Given the description of an element on the screen output the (x, y) to click on. 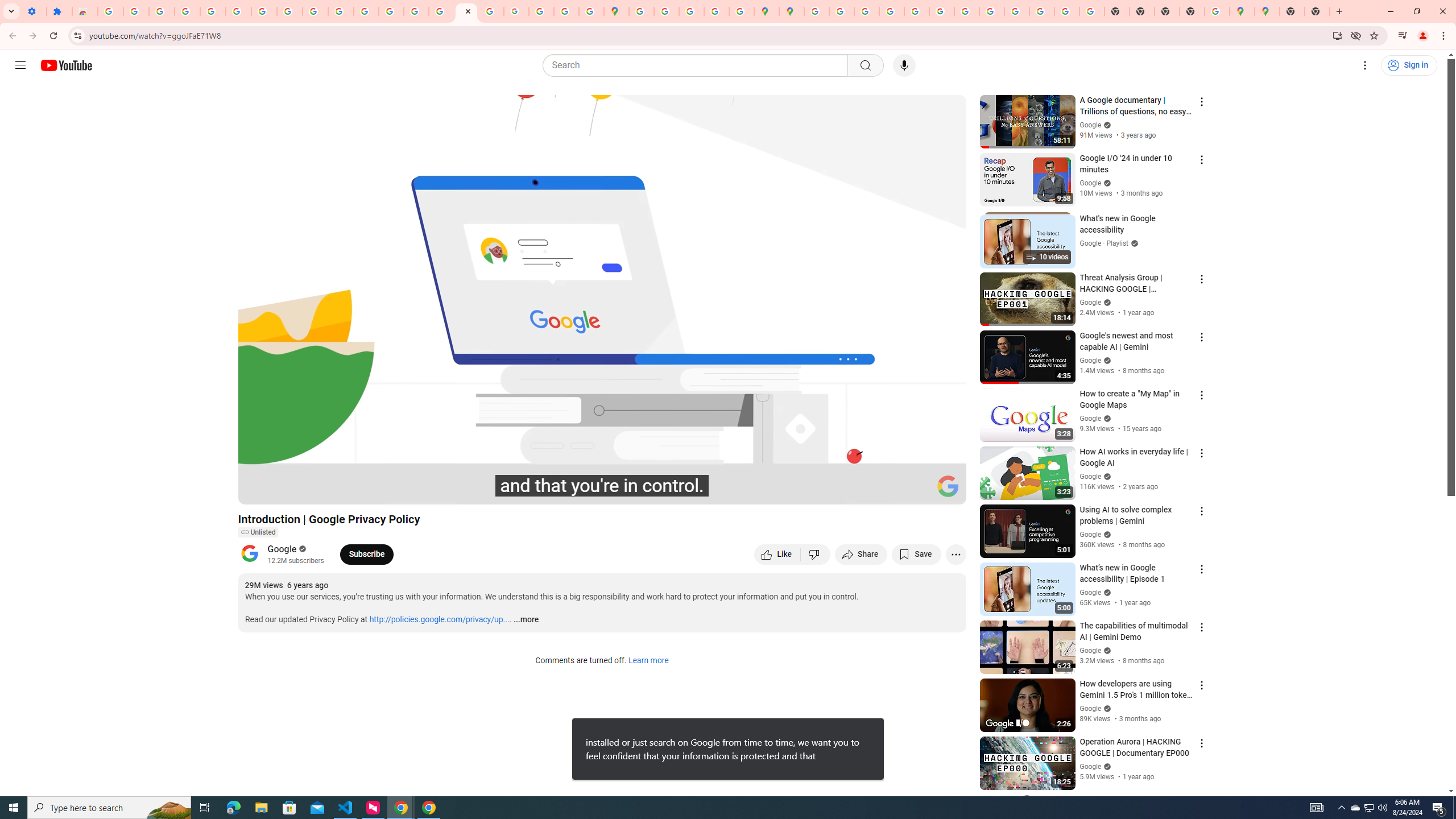
Subtitles/closed captions unavailable (836, 490)
Create your Google Account (691, 11)
Subscribe to Google. (366, 554)
...more (525, 620)
Sign in - Google Accounts (110, 11)
Full screen (f) (945, 490)
